Given the description of an element on the screen output the (x, y) to click on. 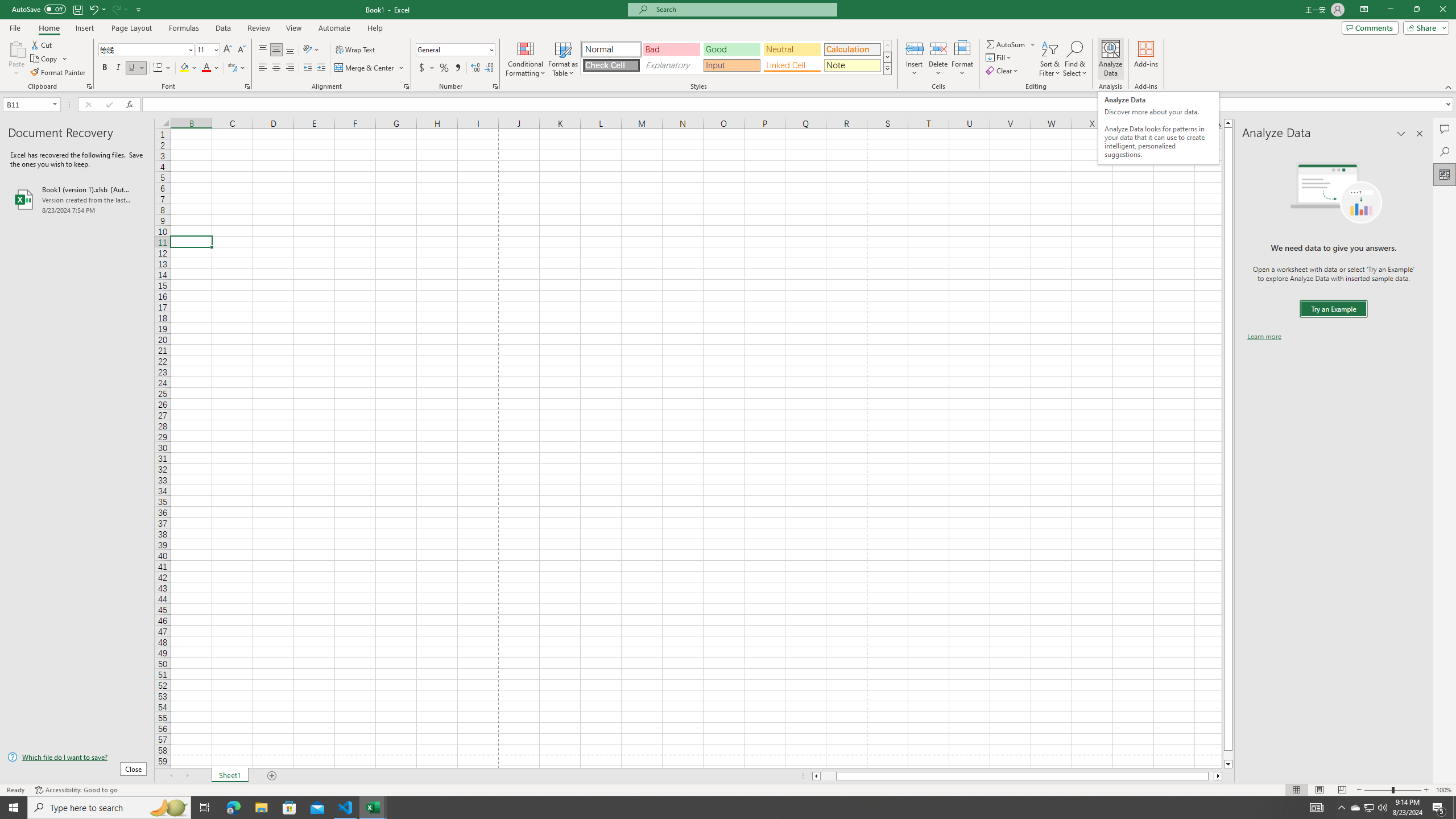
Formula Bar (799, 104)
Page right (1211, 775)
Name Box (30, 104)
Format (962, 58)
System (6, 6)
Italic (118, 67)
Insert Cells (914, 48)
Wrap Text (355, 49)
Format as Table (563, 58)
Number Format (455, 49)
Show Phonetic Field (236, 67)
Add Sheet (272, 775)
Middle Align (276, 49)
Accessibility Checker Accessibility: Good to go (76, 790)
Font Size (204, 49)
